Given the description of an element on the screen output the (x, y) to click on. 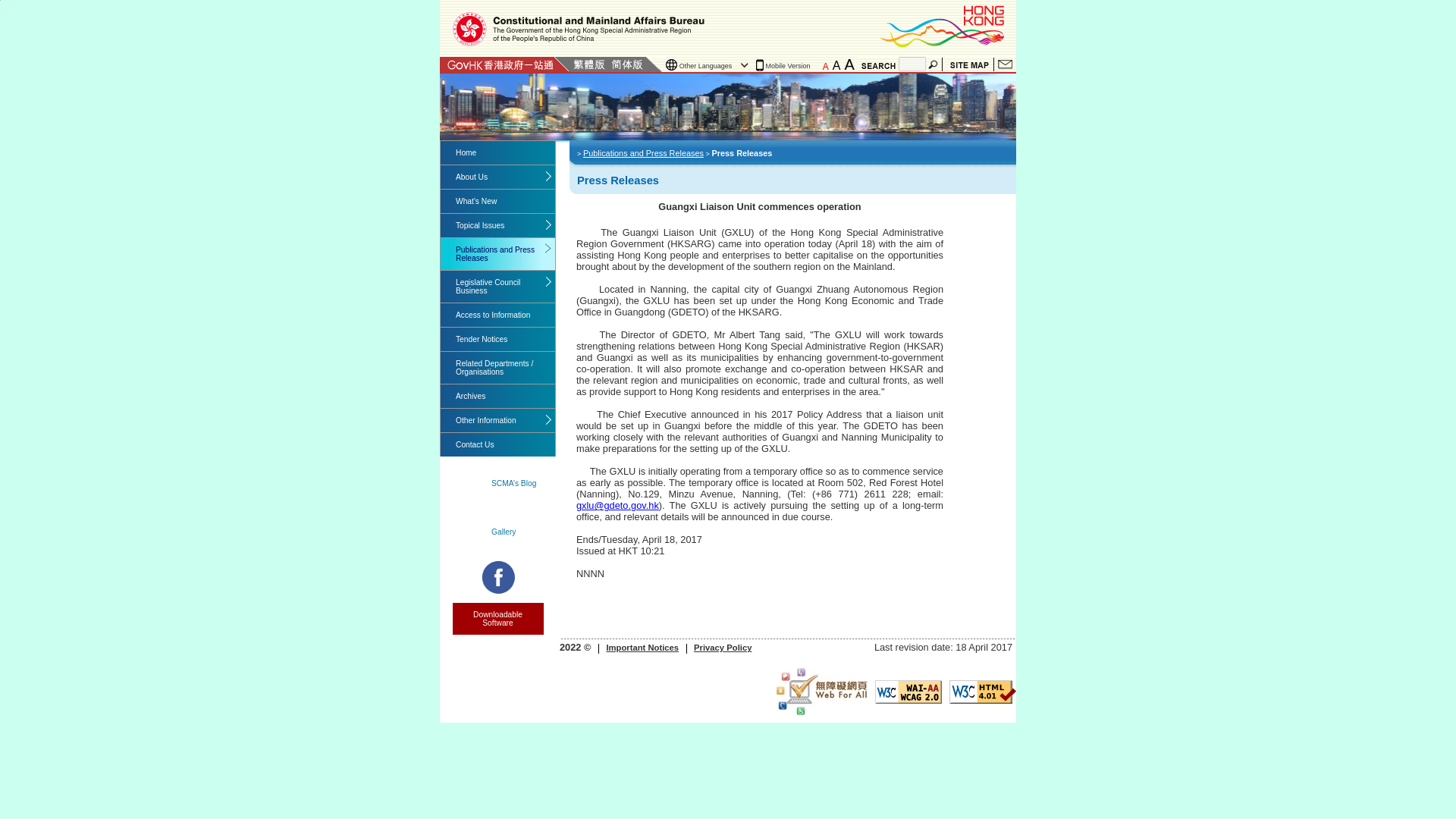
Largest Font Size (848, 64)
Simplified Chinese (627, 64)
Default Font Size (825, 66)
About Us (497, 177)
Brand Hong Kong - Asia's world city (944, 26)
A (836, 65)
Home (497, 152)
Larger Font Size (836, 65)
Traditional Chinese (588, 64)
Valid HTML 4.01 (982, 691)
Site Map (969, 64)
WCAG 2.0 AA (908, 691)
A (825, 66)
Mobile Version (785, 65)
